Given the description of an element on the screen output the (x, y) to click on. 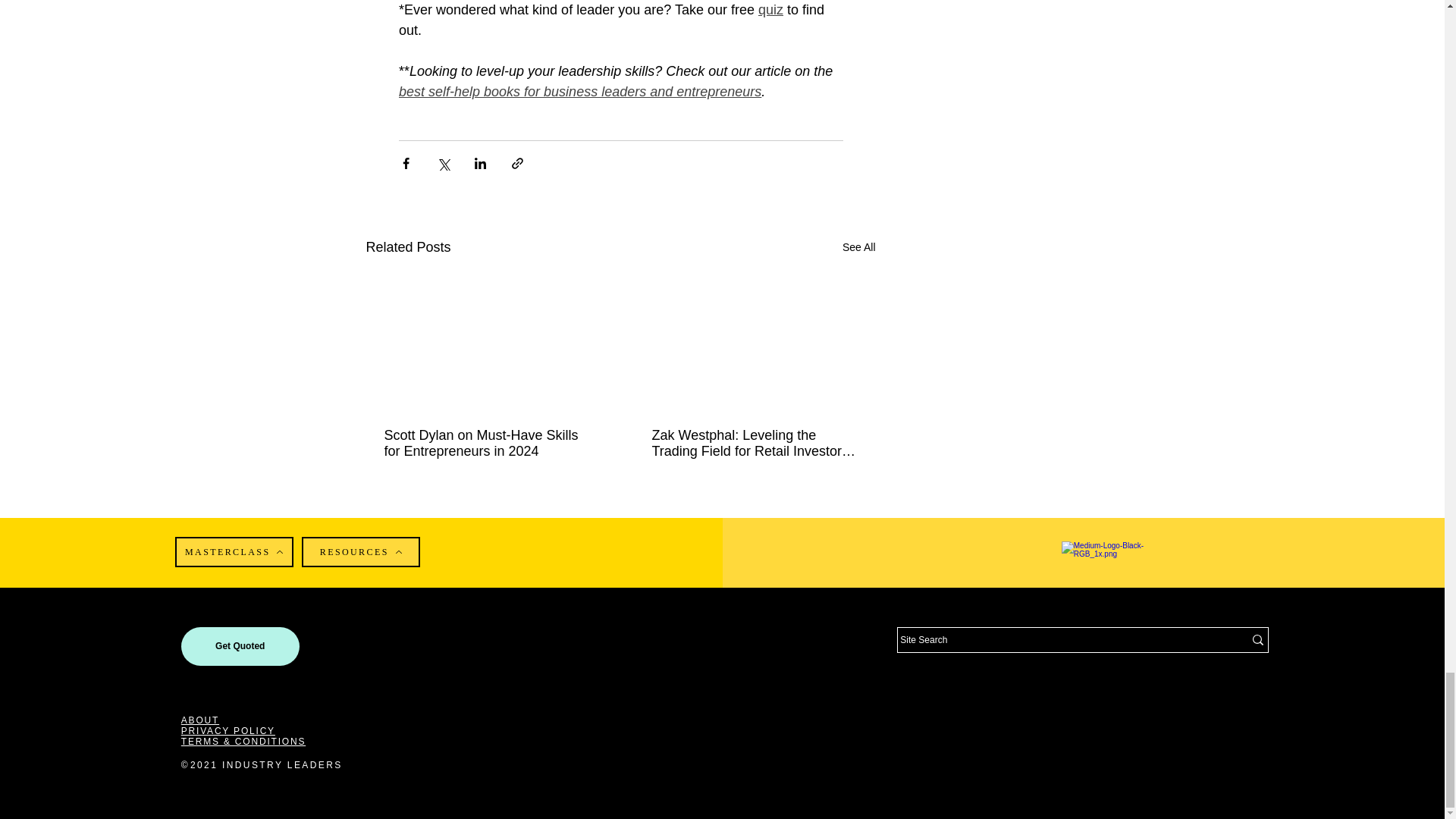
See All (859, 247)
ABOUT (199, 719)
PRIVACY POLICY (227, 730)
quiz (770, 9)
best self-help books for business leaders and entrepreneurs (579, 91)
Get Quoted (239, 646)
MASTERCLASS (234, 552)
Scott Dylan on Must-Have Skills for Entrepreneurs in 2024 (486, 443)
